Given the description of an element on the screen output the (x, y) to click on. 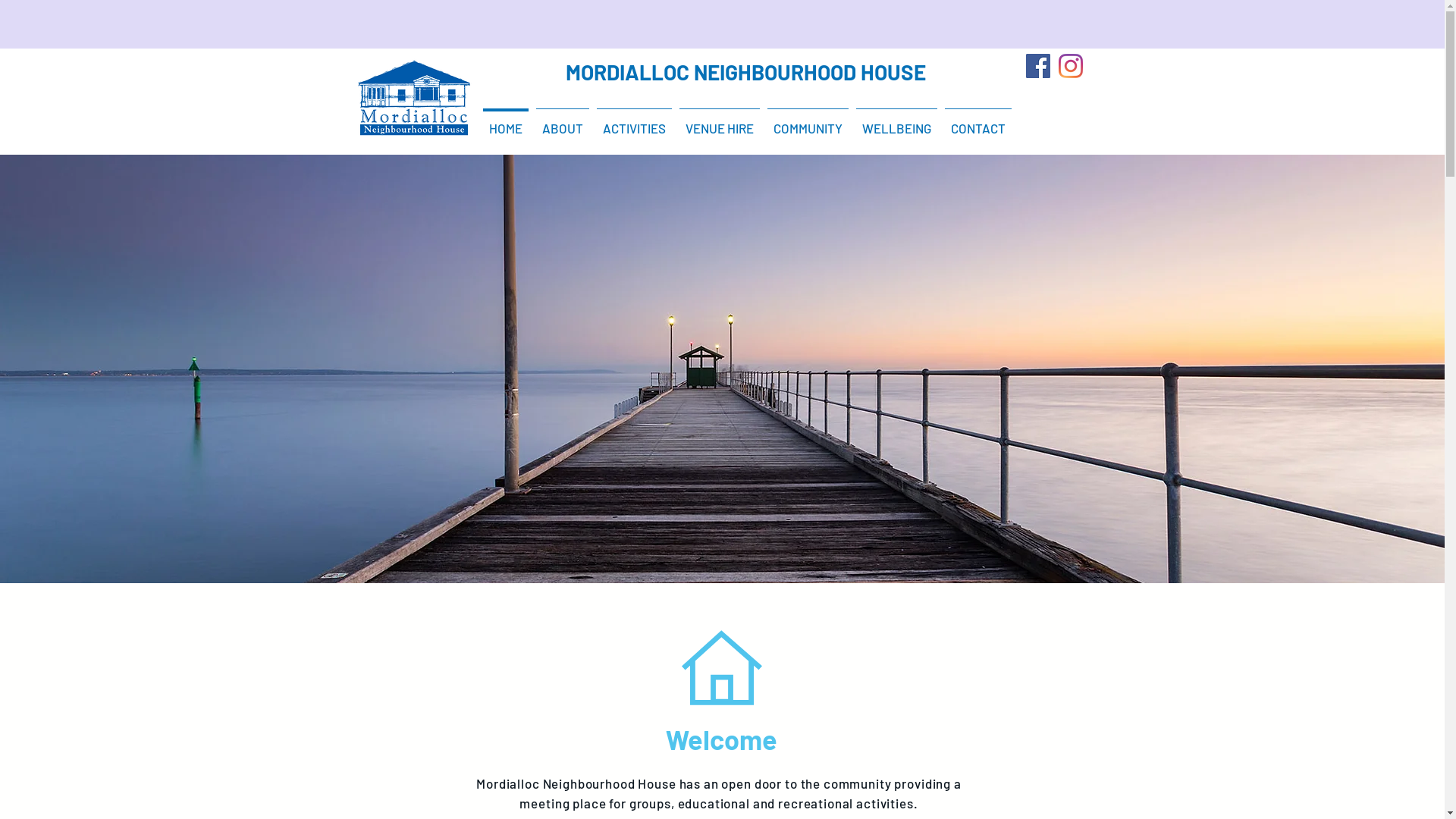
HOME Element type: text (505, 121)
COMMUNITY Element type: text (807, 121)
WELLBEING Element type: text (896, 121)
ABOUT Element type: text (562, 121)
CONTACT Element type: text (978, 121)
VENUE HIRE Element type: text (719, 121)
